Given the description of an element on the screen output the (x, y) to click on. 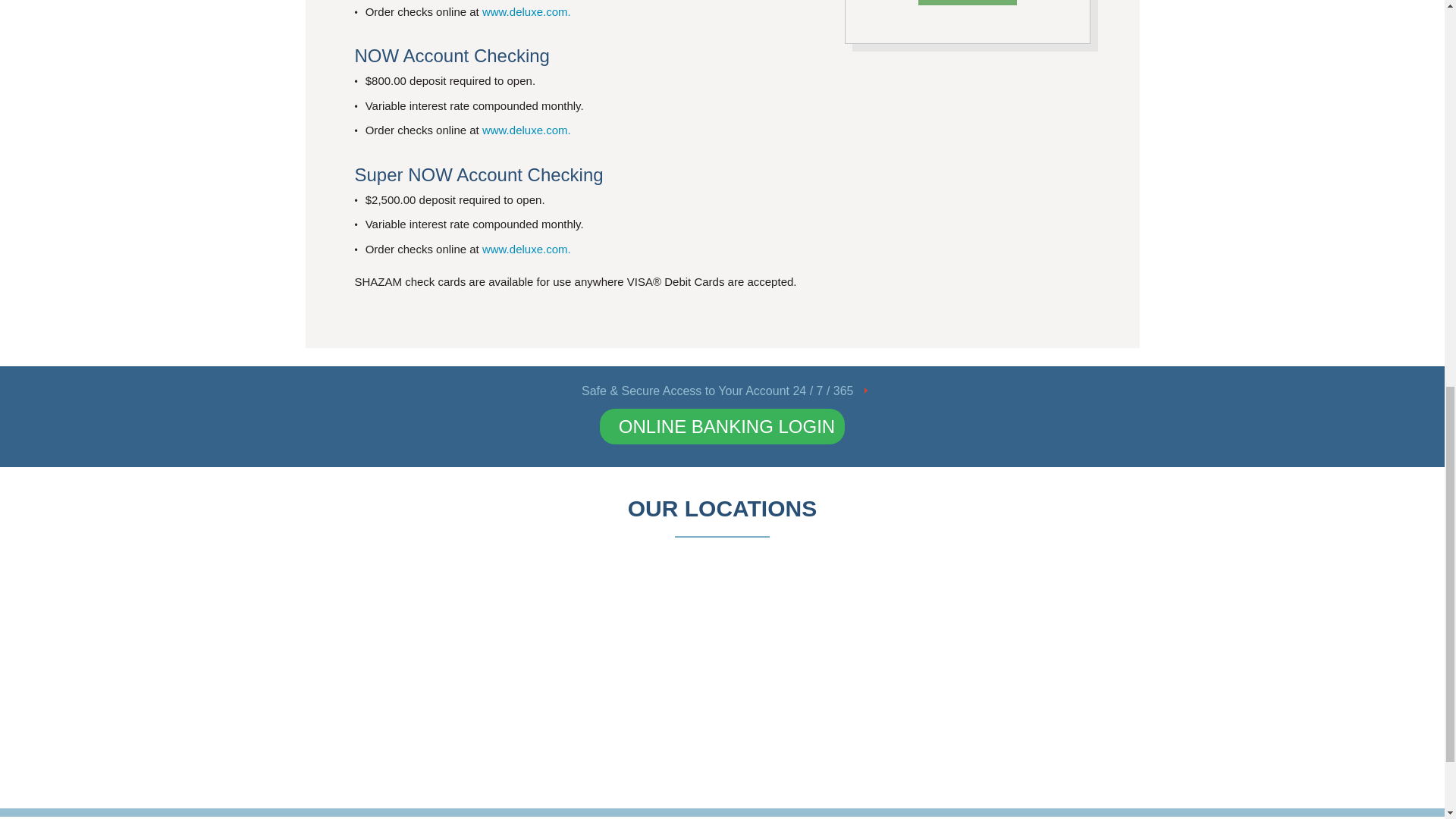
www.deluxe.com. (525, 129)
www.deluxe.com. (525, 11)
www.deluxe.com. (525, 248)
ONLINE BANKING LOGIN (721, 426)
Get Started (967, 2)
Get Started (967, 2)
